Given the description of an element on the screen output the (x, y) to click on. 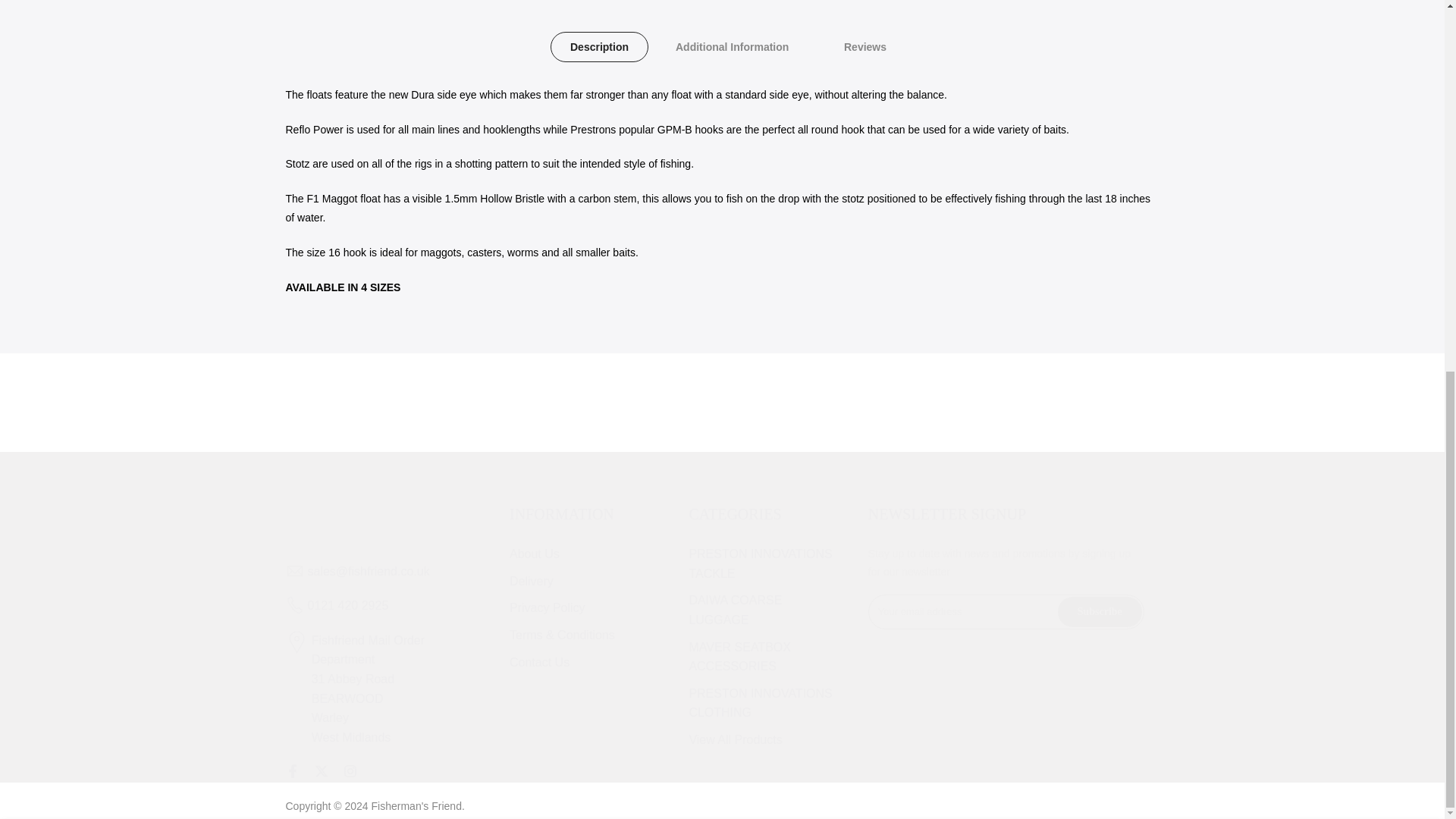
1 (930, 177)
Additional Information (731, 46)
Reviews (864, 46)
Description (598, 46)
